Given the description of an element on the screen output the (x, y) to click on. 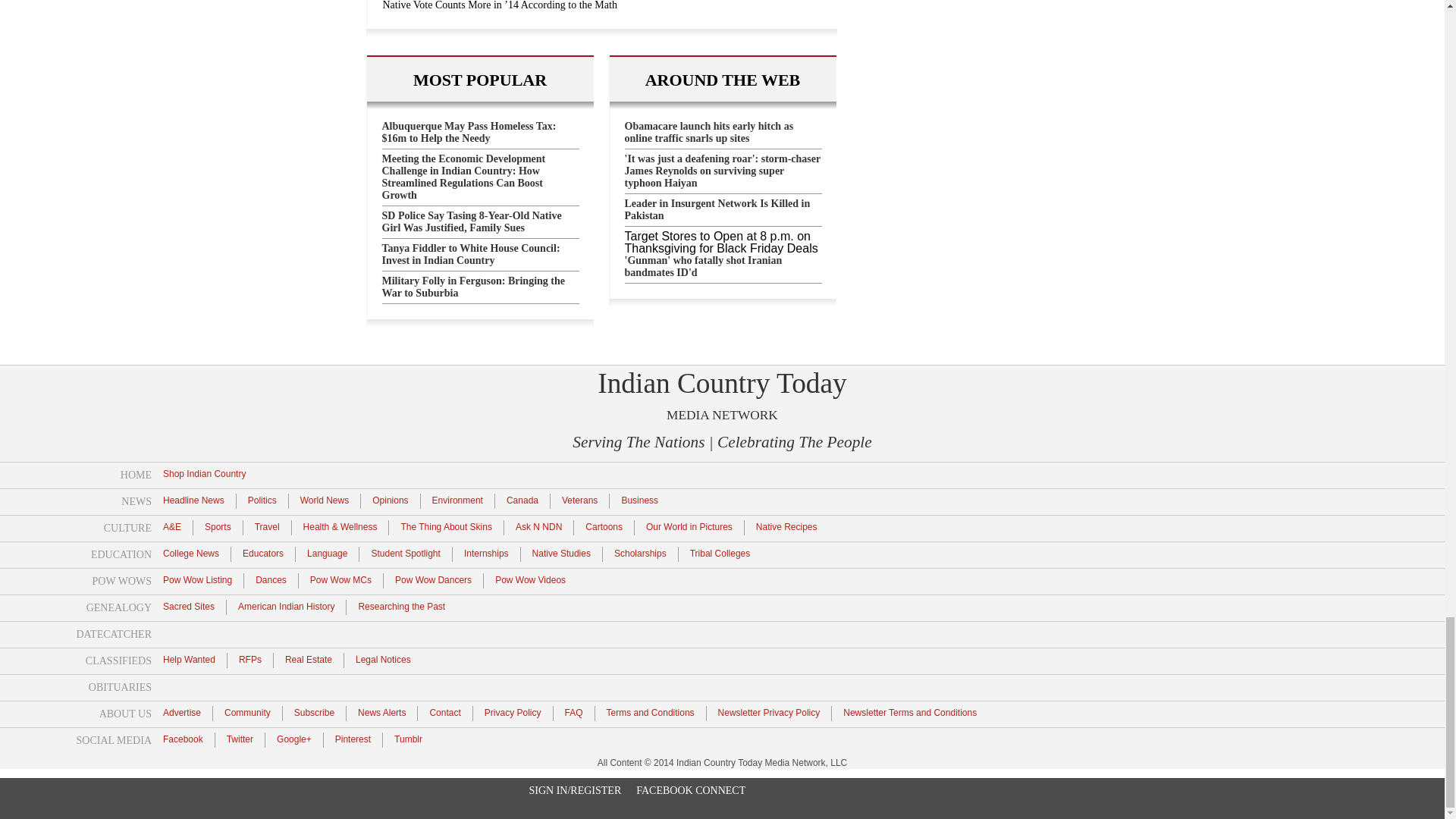
Terms and Conditions (650, 712)
Privacy Policy (512, 712)
